Given the description of an element on the screen output the (x, y) to click on. 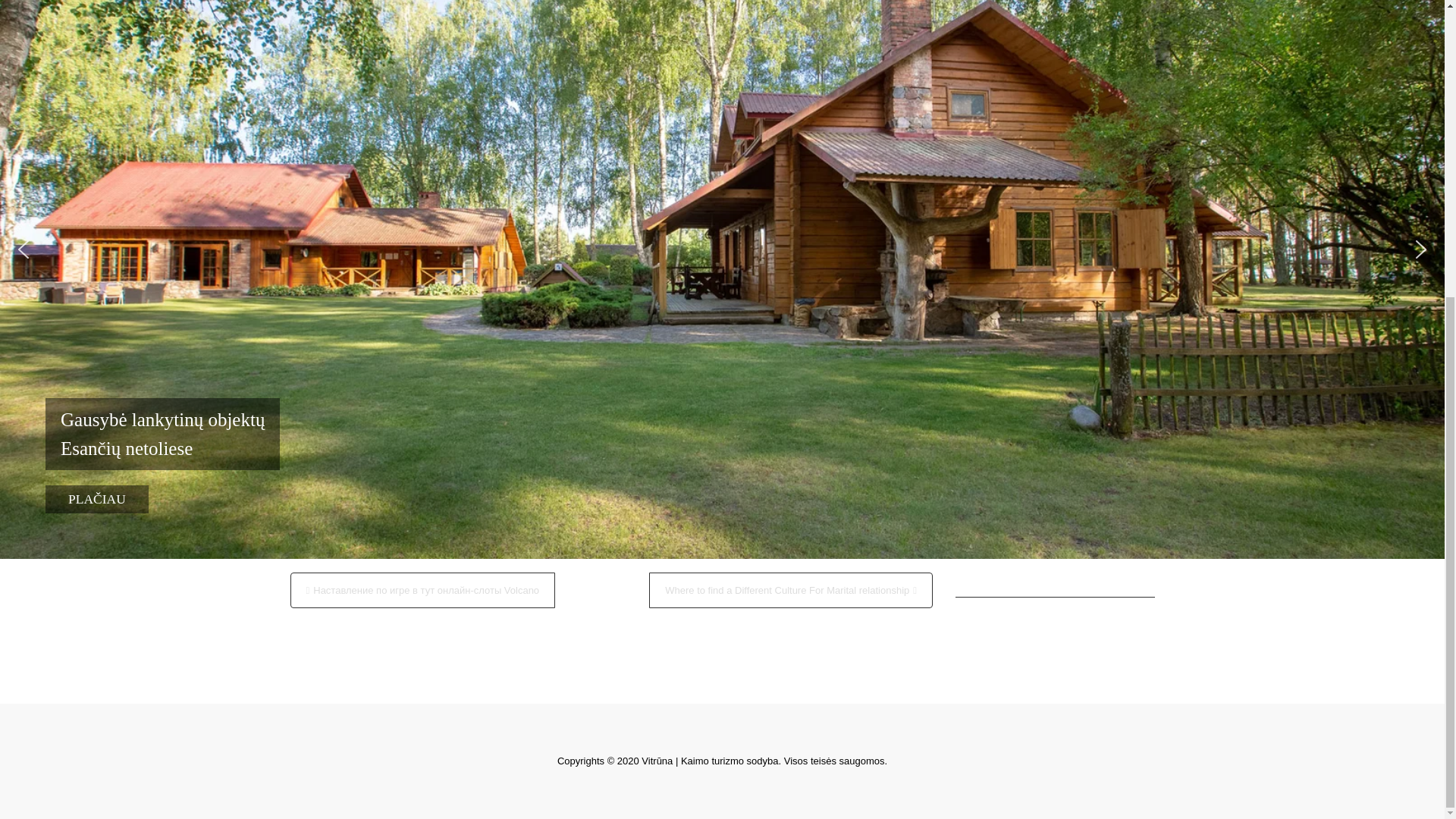
where can i find a new wife (348, 159)
2020 22 spalio (369, 2)
Where to find a Different Culture For Marital relationship (791, 590)
BE KATEGORIJOS (388, 509)
Vitruna (432, 2)
